Given the description of an element on the screen output the (x, y) to click on. 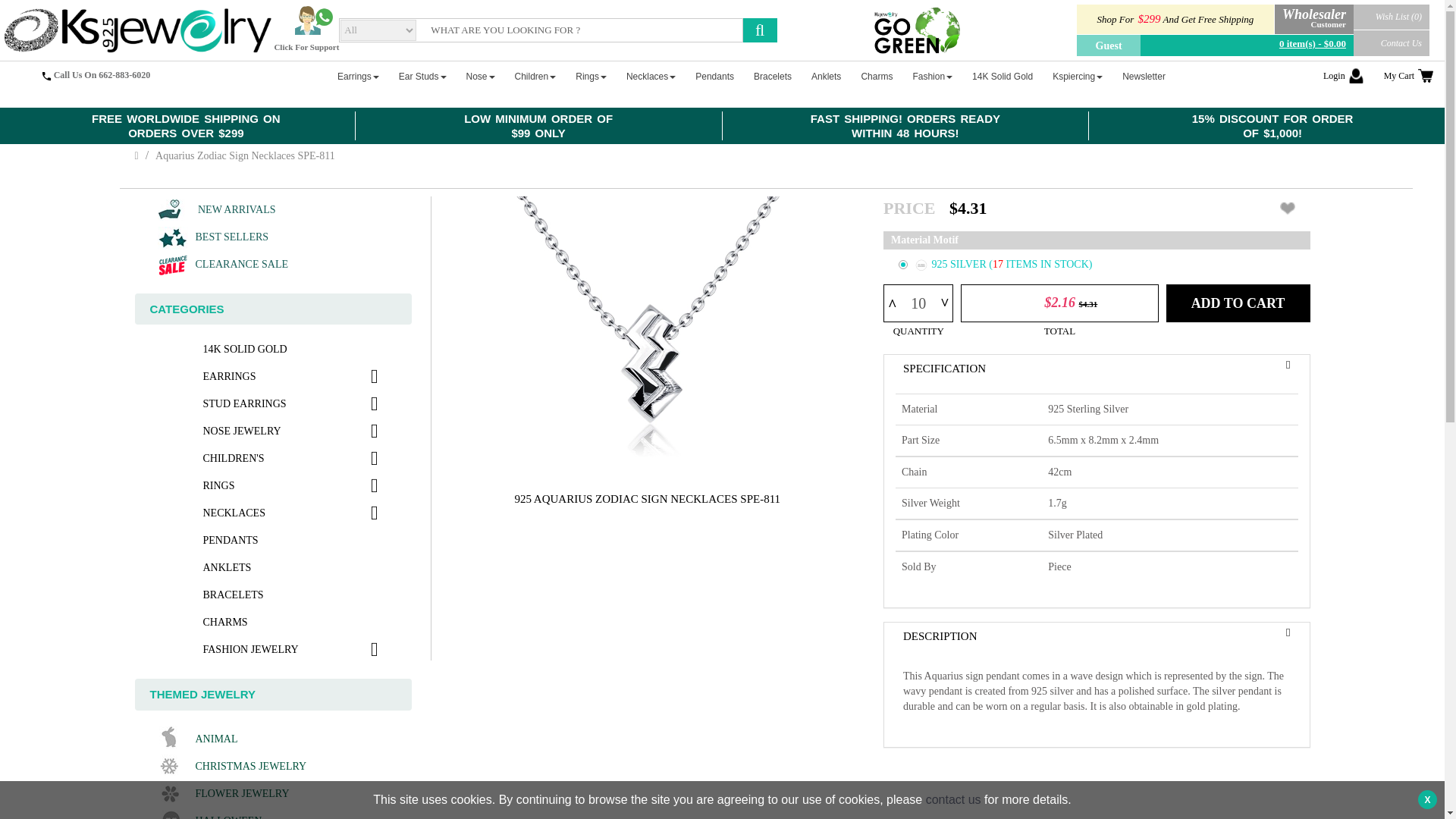
Ear Studs (422, 76)
Earrings (358, 76)
Aquarius Zodiac Sign Necklaces SPE-811 (647, 332)
Wholesale Sterling Silver Jewelry (136, 30)
91082 (902, 264)
call (46, 75)
10 (918, 303)
Nose (480, 76)
Contact Us (1391, 43)
